Given the description of an element on the screen output the (x, y) to click on. 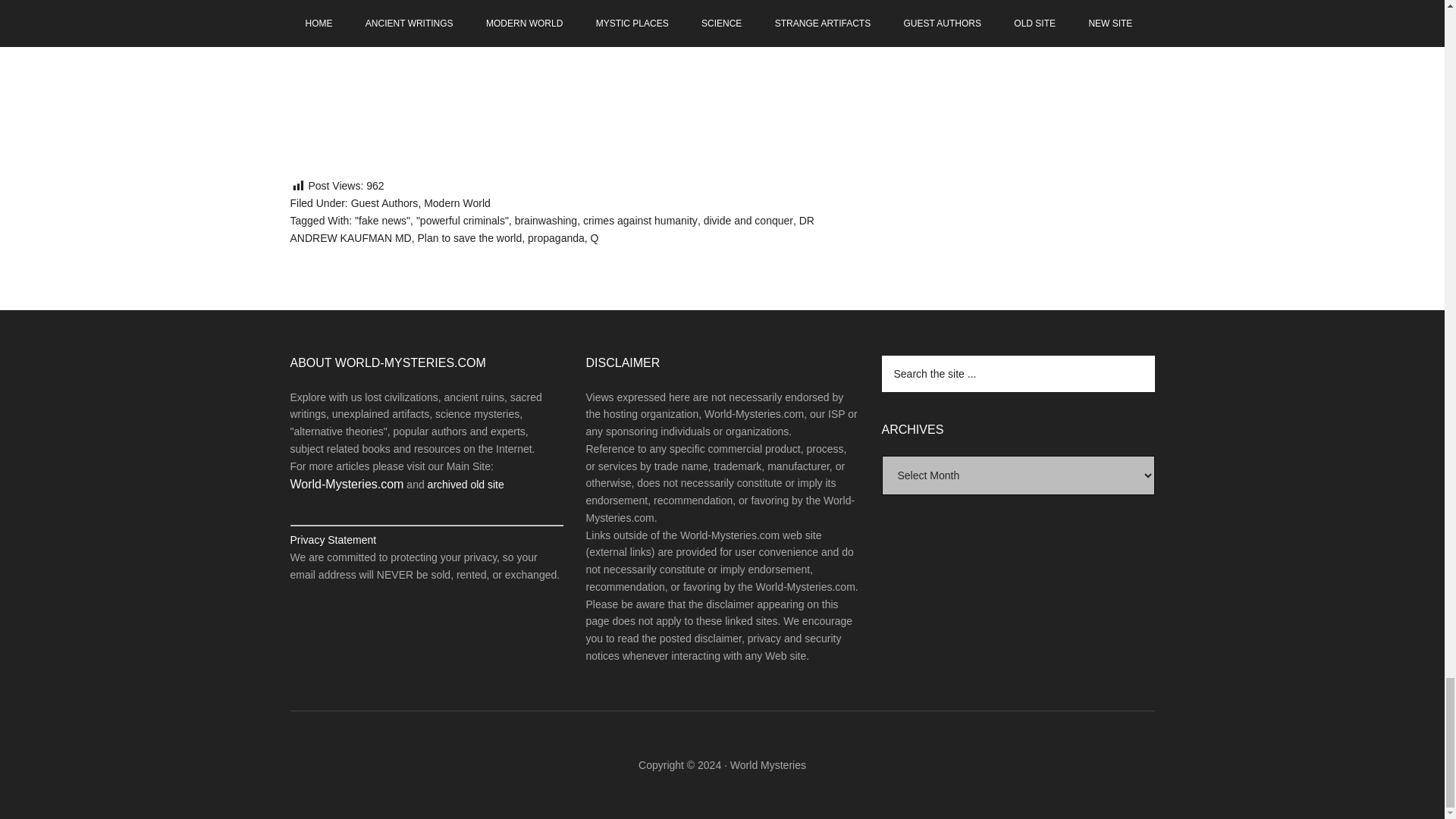
crimes against humanity (640, 220)
divide and conquer (748, 220)
Modern World (456, 203)
Guest Authors (384, 203)
Plan to save the world (469, 237)
propaganda (556, 237)
DR ANDREW KAUFMAN MD (551, 229)
"powerful criminals" (462, 220)
